Given the description of an element on the screen output the (x, y) to click on. 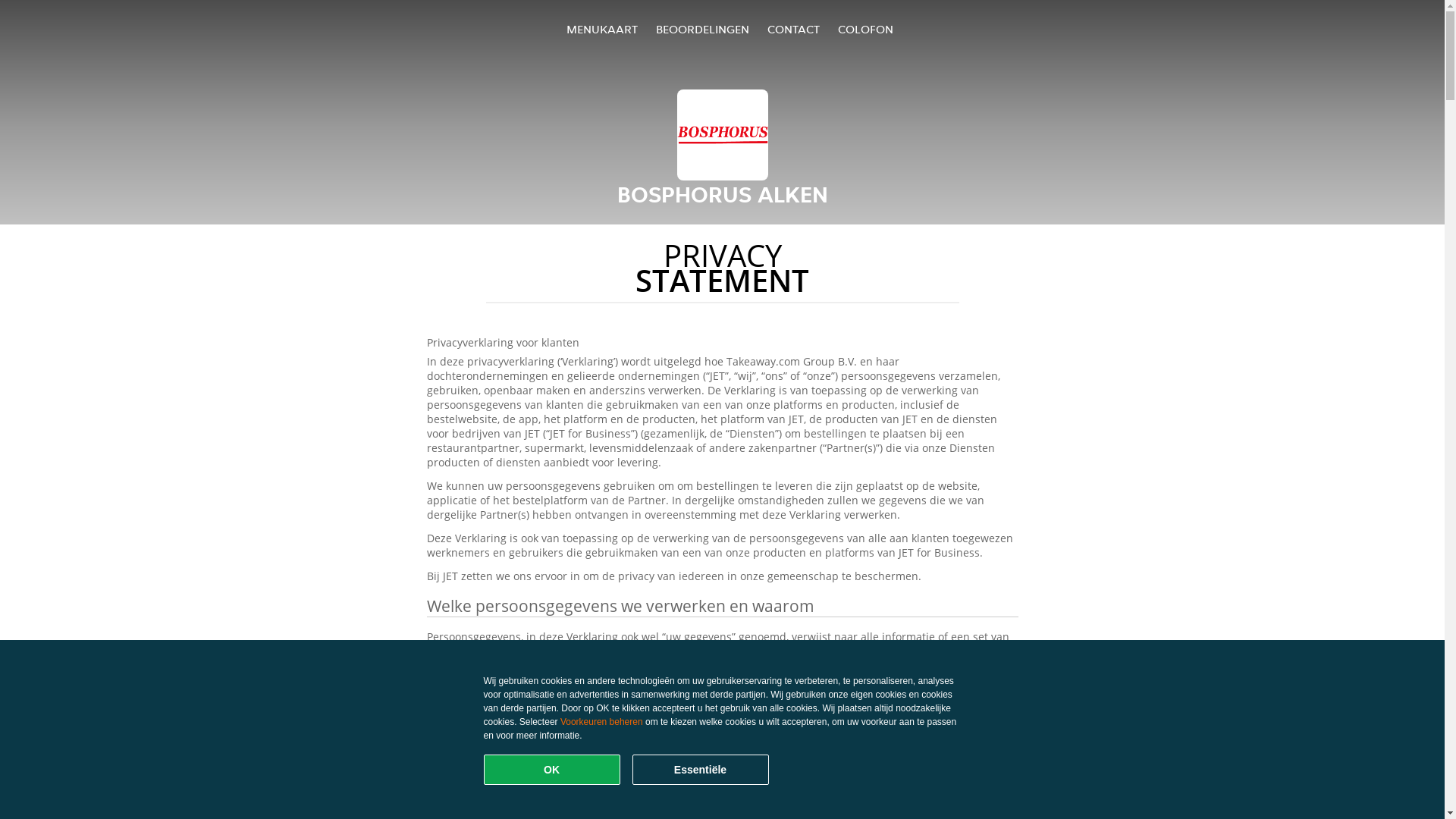
CONTACT Element type: text (793, 29)
MENUKAART Element type: text (601, 29)
Voorkeuren beheren Element type: text (601, 721)
OK Element type: text (551, 769)
BEOORDELINGEN Element type: text (702, 29)
COLOFON Element type: text (865, 29)
